Given the description of an element on the screen output the (x, y) to click on. 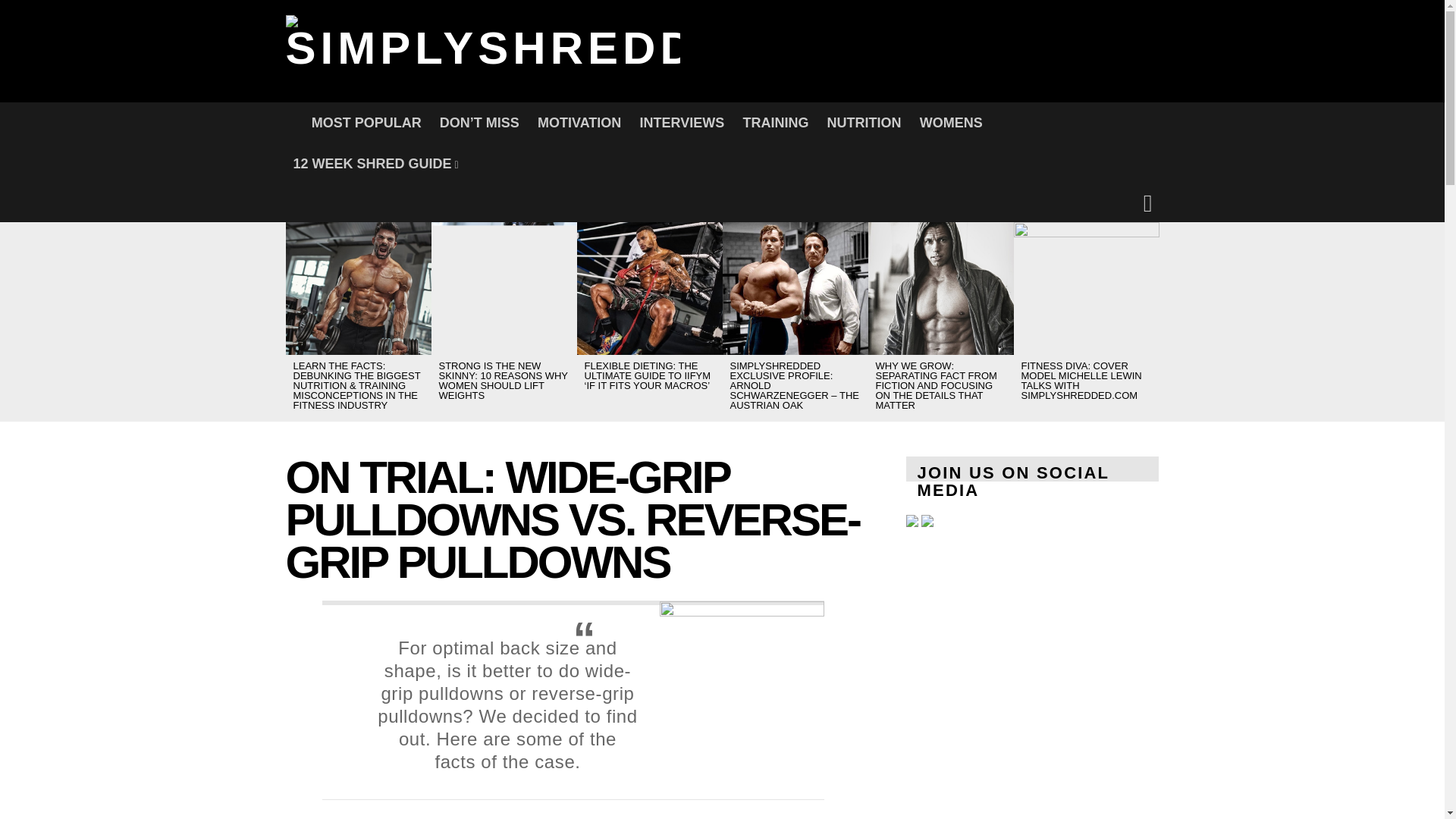
TRAINING (775, 122)
Search (977, 295)
INTERVIEWS (681, 122)
WOMENS (951, 122)
MOTIVATION (578, 122)
NUTRITION (863, 122)
MOST POPULAR (366, 122)
12 WEEK SHRED GUIDE (375, 163)
